Given the description of an element on the screen output the (x, y) to click on. 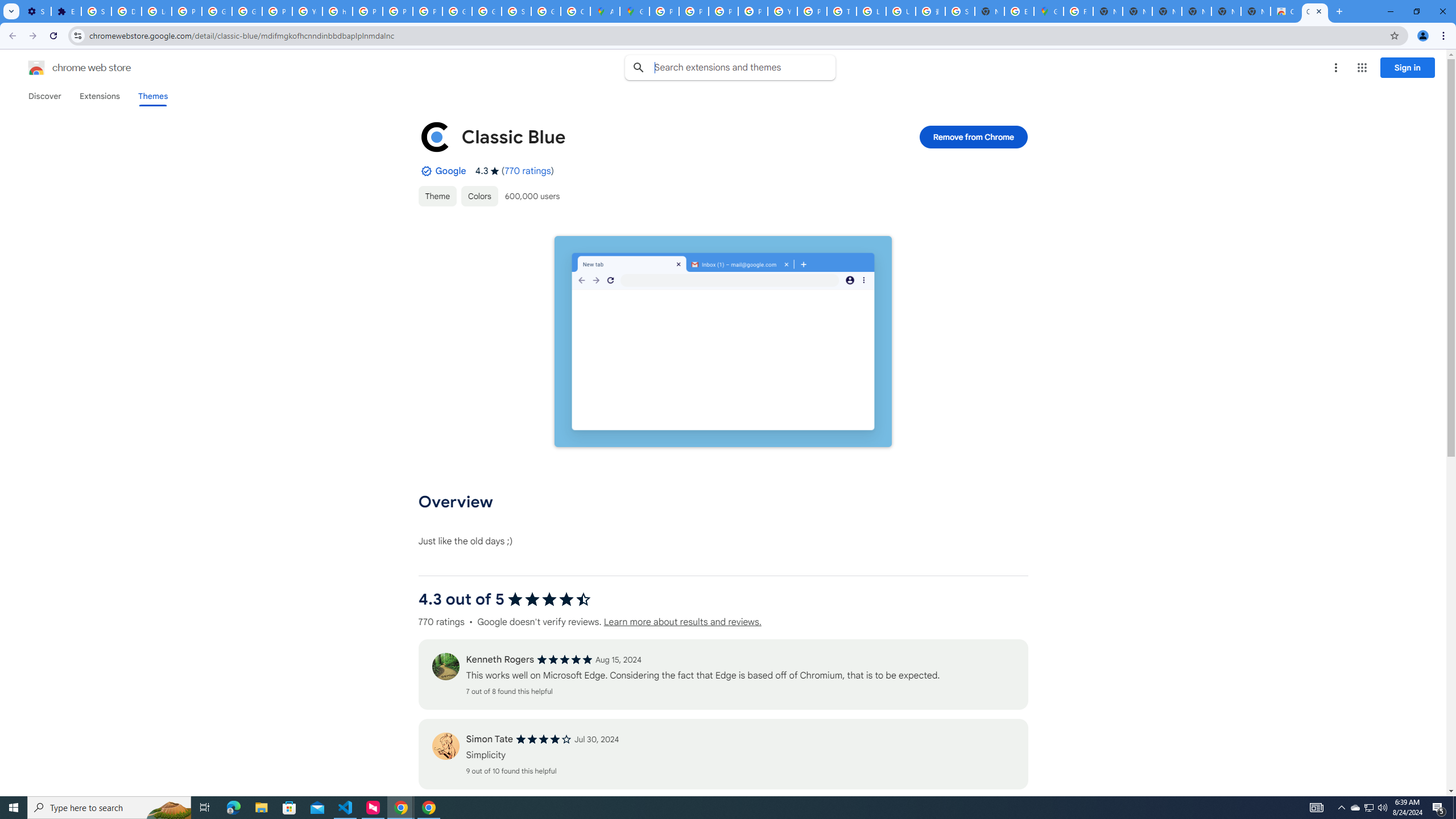
Item media 1 screenshot (723, 342)
Themes (152, 95)
Privacy Help Center - Policies Help (723, 11)
Settings - On startup (36, 11)
4 out of 5 stars (543, 739)
Item logo image for Classic Blue Classic Blue (645, 136)
770 ratings (527, 170)
Google Maps (634, 11)
